Given the description of an element on the screen output the (x, y) to click on. 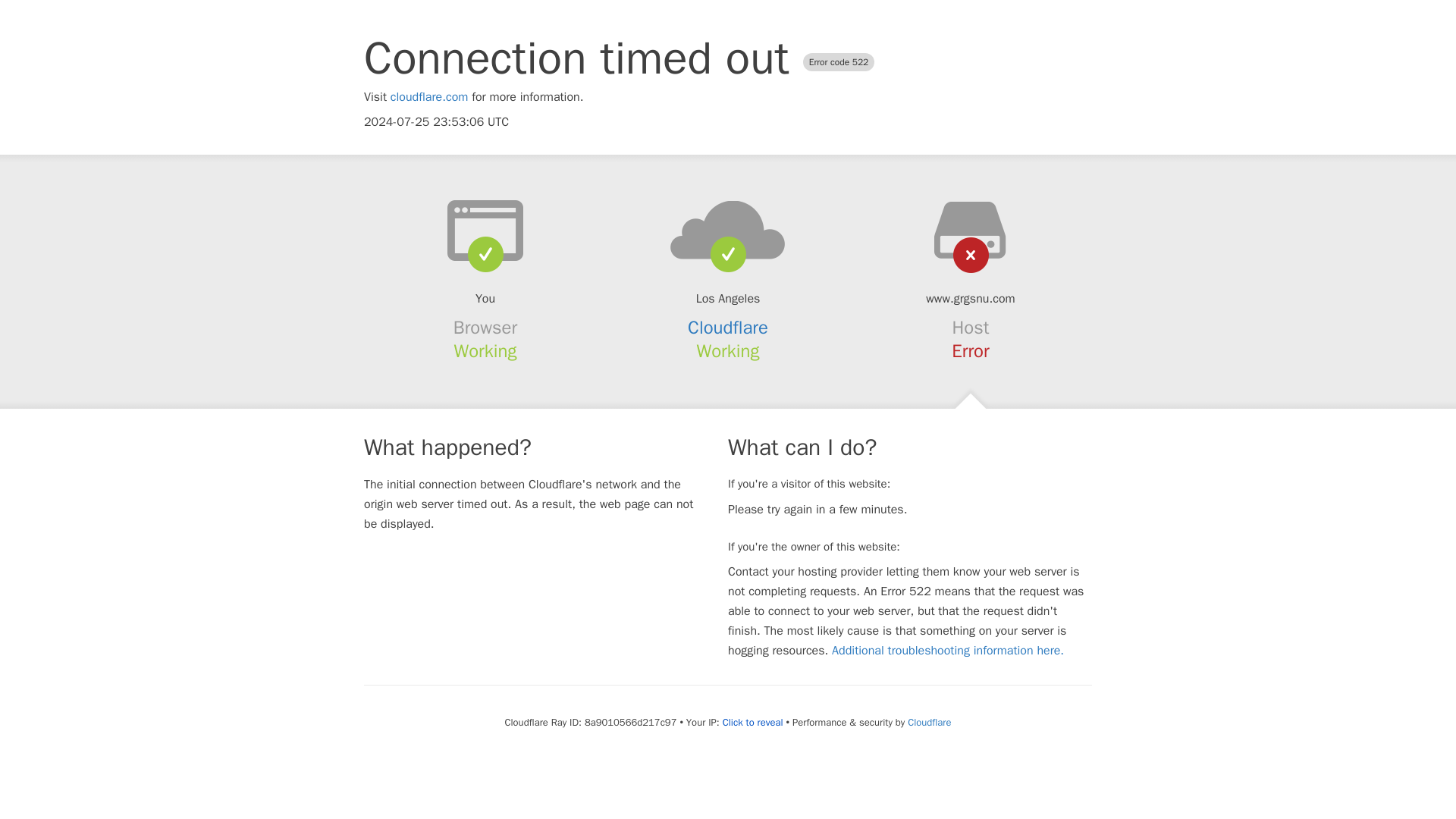
Cloudflare (928, 721)
cloudflare.com (429, 96)
Click to reveal (752, 722)
Additional troubleshooting information here. (947, 650)
Cloudflare (727, 327)
